Given the description of an element on the screen output the (x, y) to click on. 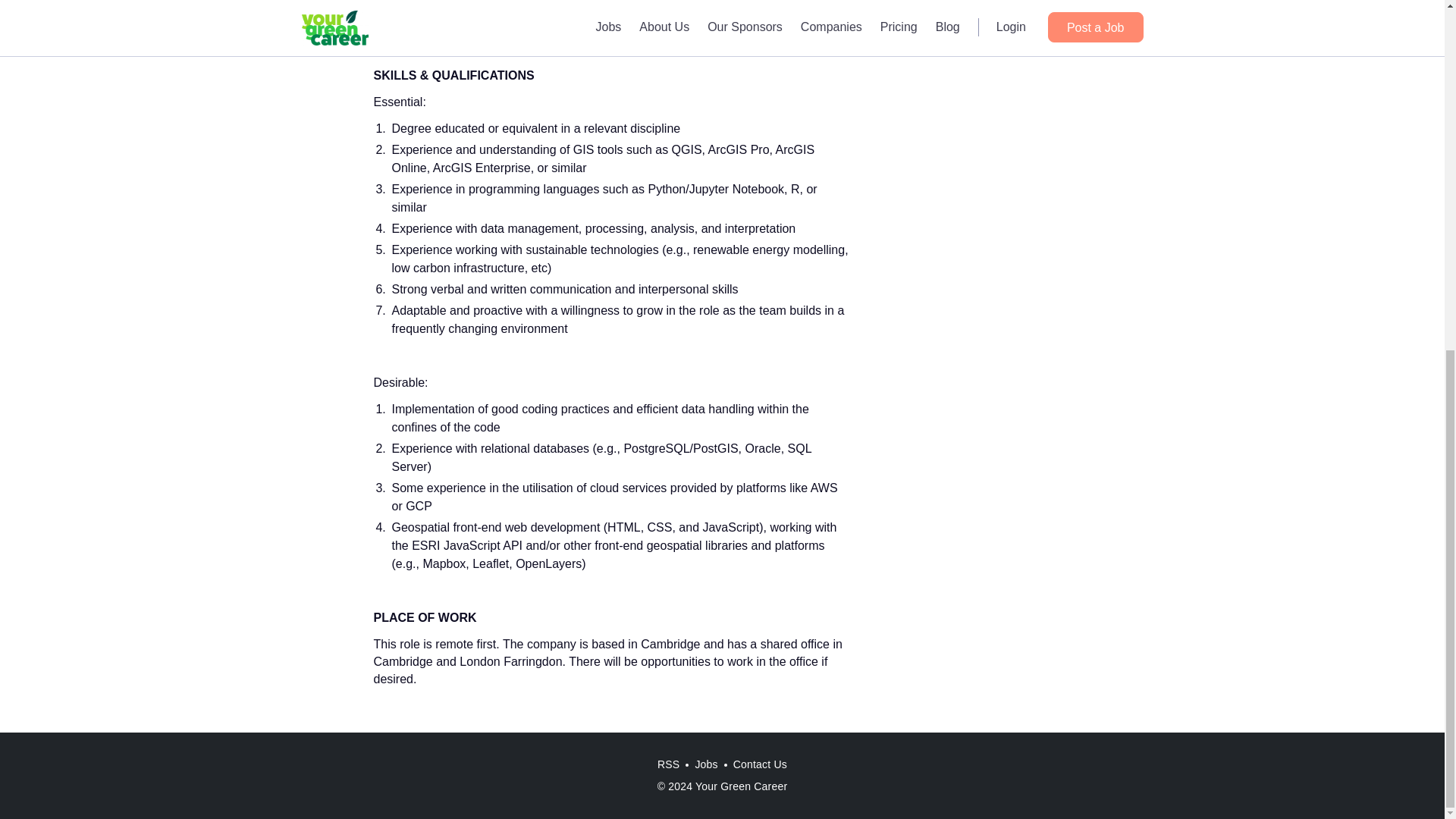
Contact Us (759, 764)
RSS (668, 764)
Jobs (706, 764)
